Given the description of an element on the screen output the (x, y) to click on. 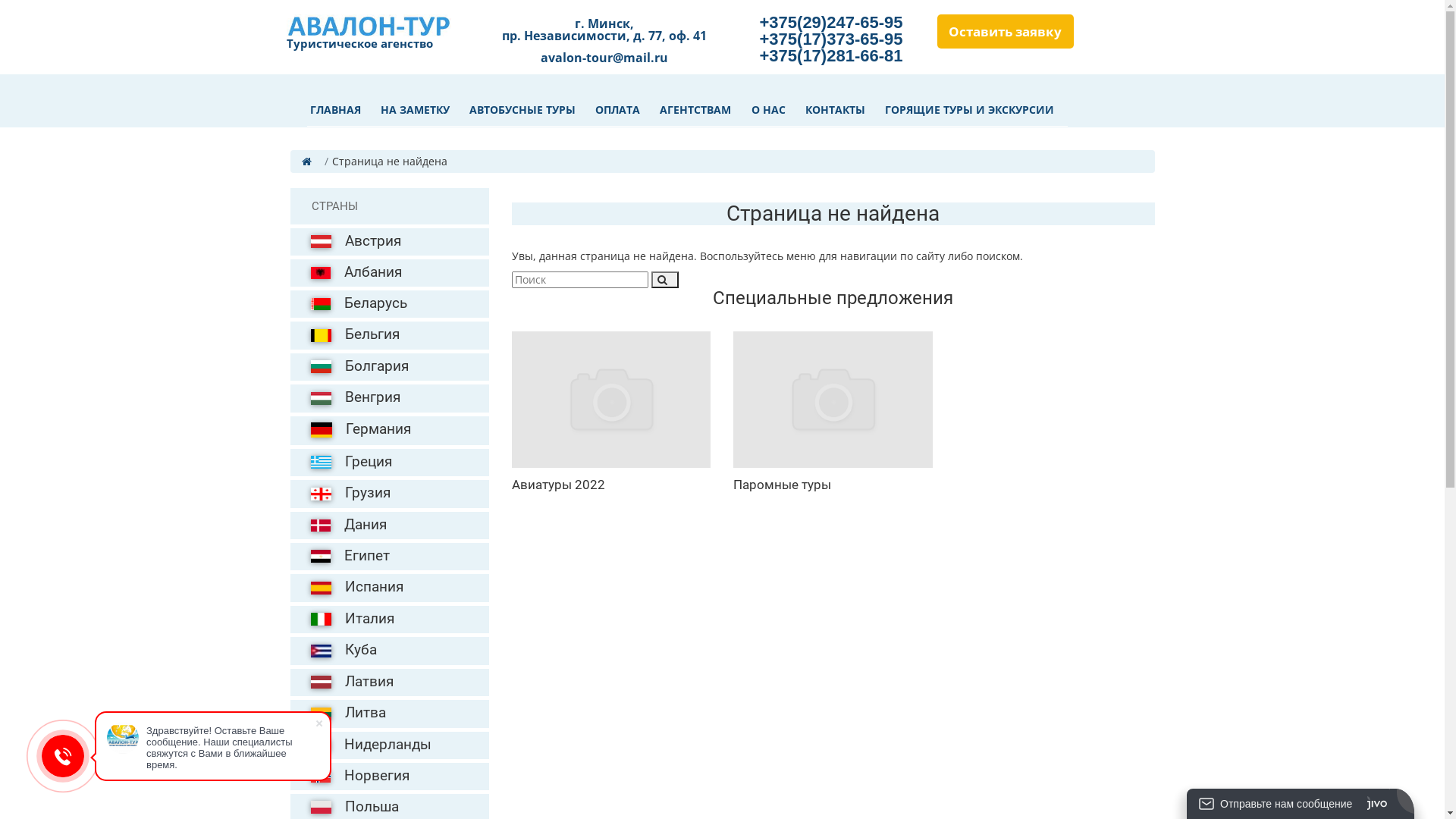
+375(29)247-65-95 Element type: text (831, 21)
+375(17)373-65-95 Element type: text (831, 38)
avalon-tour@mail.ru Element type: text (603, 54)
+375(17)281-66-81 Element type: text (831, 55)
